Given the description of an element on the screen output the (x, y) to click on. 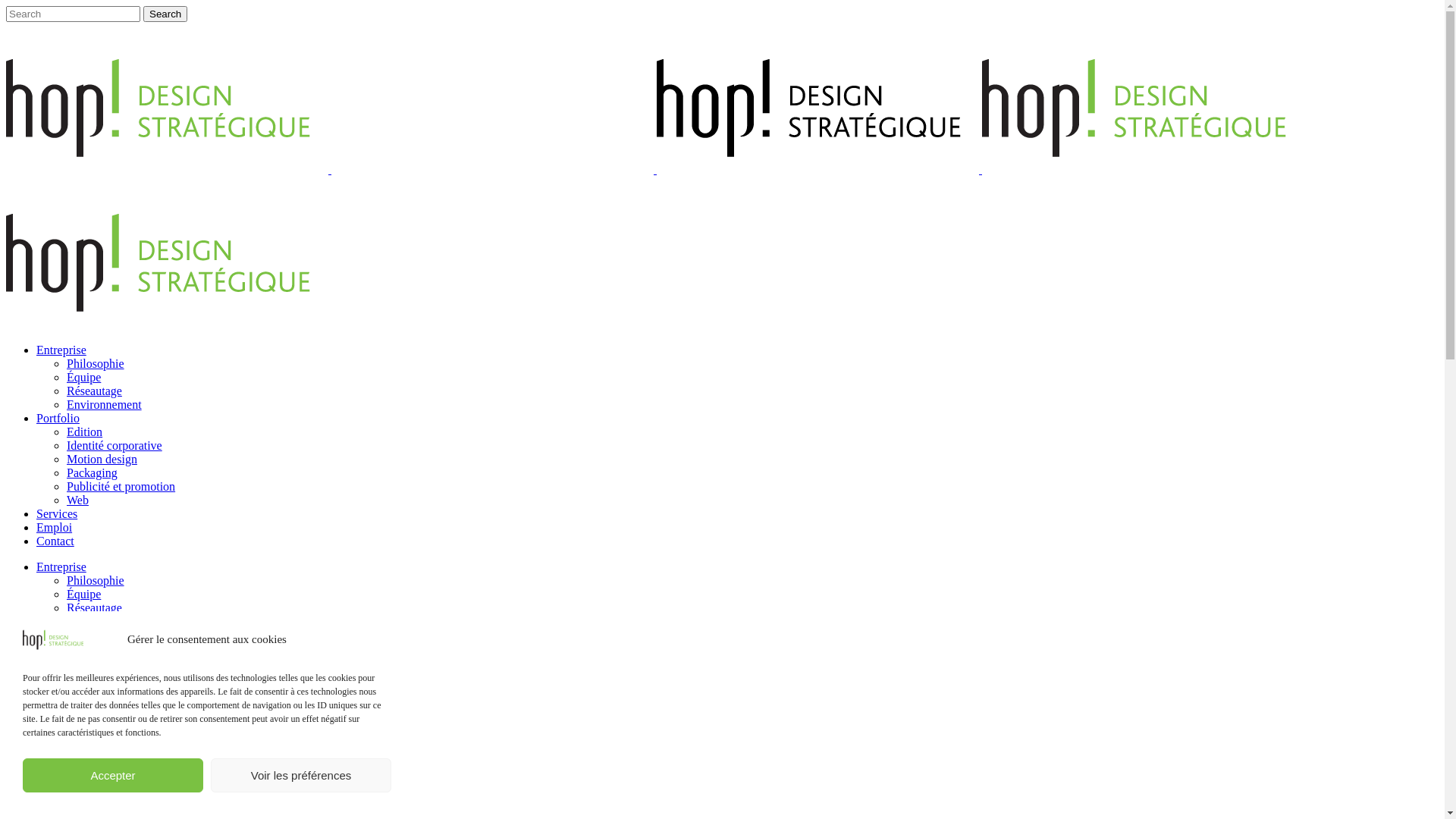
Accepter Element type: text (112, 775)
Packaging Element type: text (91, 472)
Emploi Element type: text (54, 526)
Philosophie Element type: text (95, 580)
Services Element type: text (56, 513)
Environnement Element type: text (103, 404)
Motion design Element type: text (101, 458)
Motion design Element type: text (101, 675)
Edition Element type: text (84, 648)
Environnement Element type: text (103, 621)
Packaging Element type: text (91, 689)
Contact Element type: text (55, 540)
Web Element type: text (77, 716)
Philosophie Element type: text (95, 363)
Entreprise Element type: text (61, 566)
Portfolio Element type: text (57, 634)
Portfolio Element type: text (57, 417)
Search Element type: text (165, 13)
Edition Element type: text (84, 431)
Contact Element type: text (55, 757)
Web Element type: text (77, 499)
Entreprise Element type: text (61, 349)
Services Element type: text (56, 730)
Emploi Element type: text (54, 743)
